Given the description of an element on the screen output the (x, y) to click on. 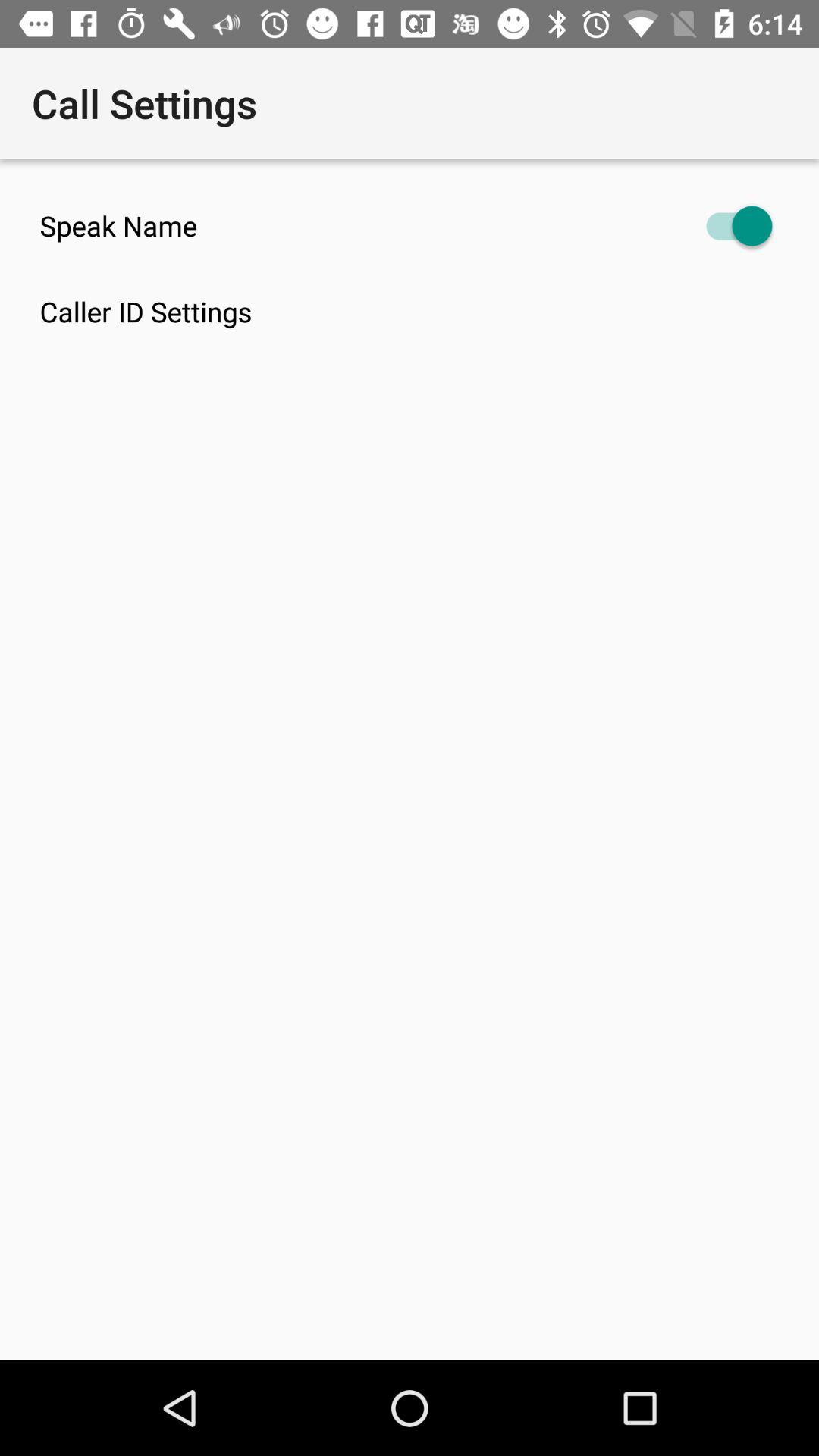
swipe until the caller id settings item (429, 311)
